Given the description of an element on the screen output the (x, y) to click on. 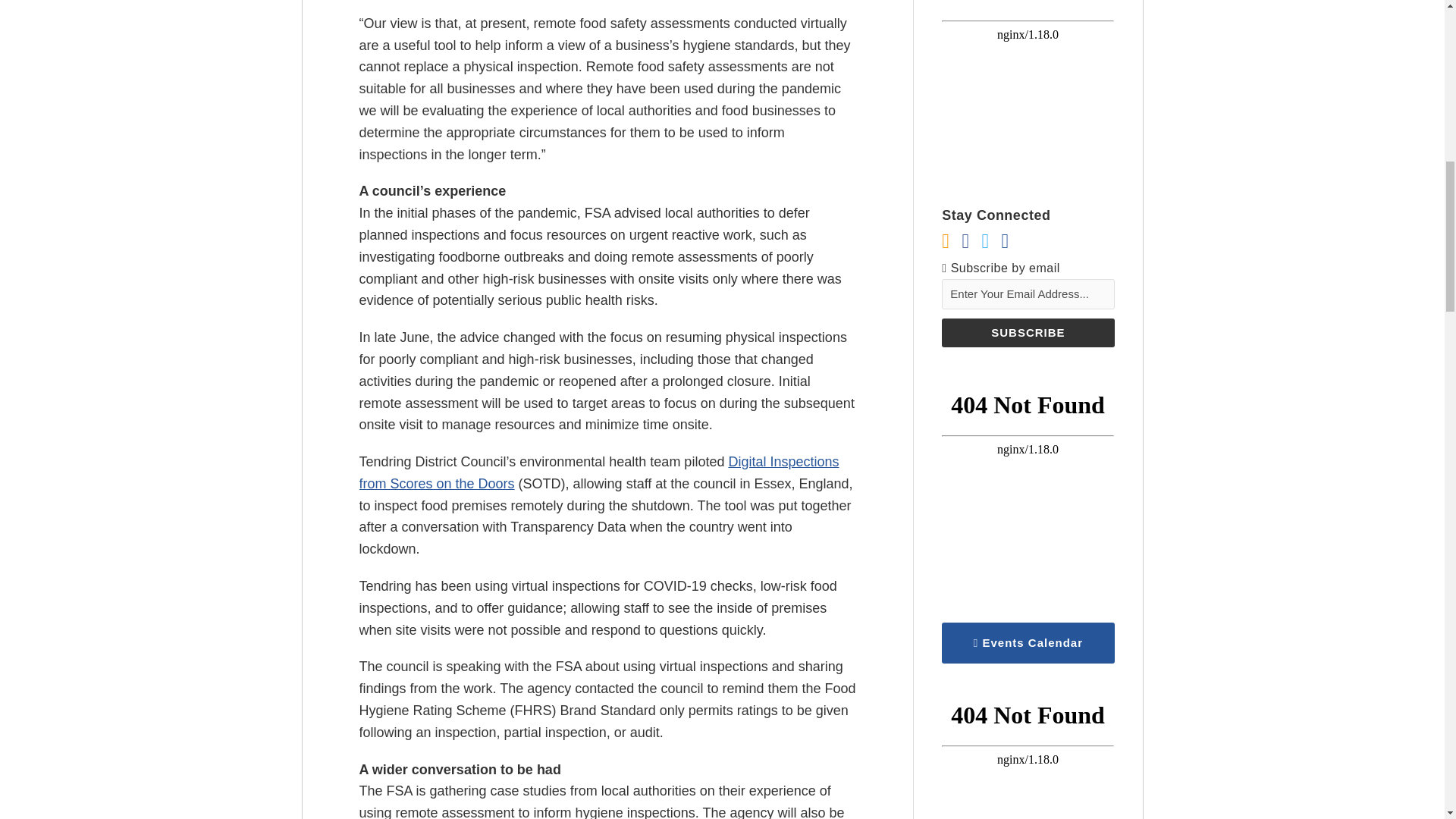
Subscribe (1027, 332)
Events Calendar (1027, 642)
Digital Inspections from Scores on the Doors (599, 472)
Subscribe (1027, 332)
